Given the description of an element on the screen output the (x, y) to click on. 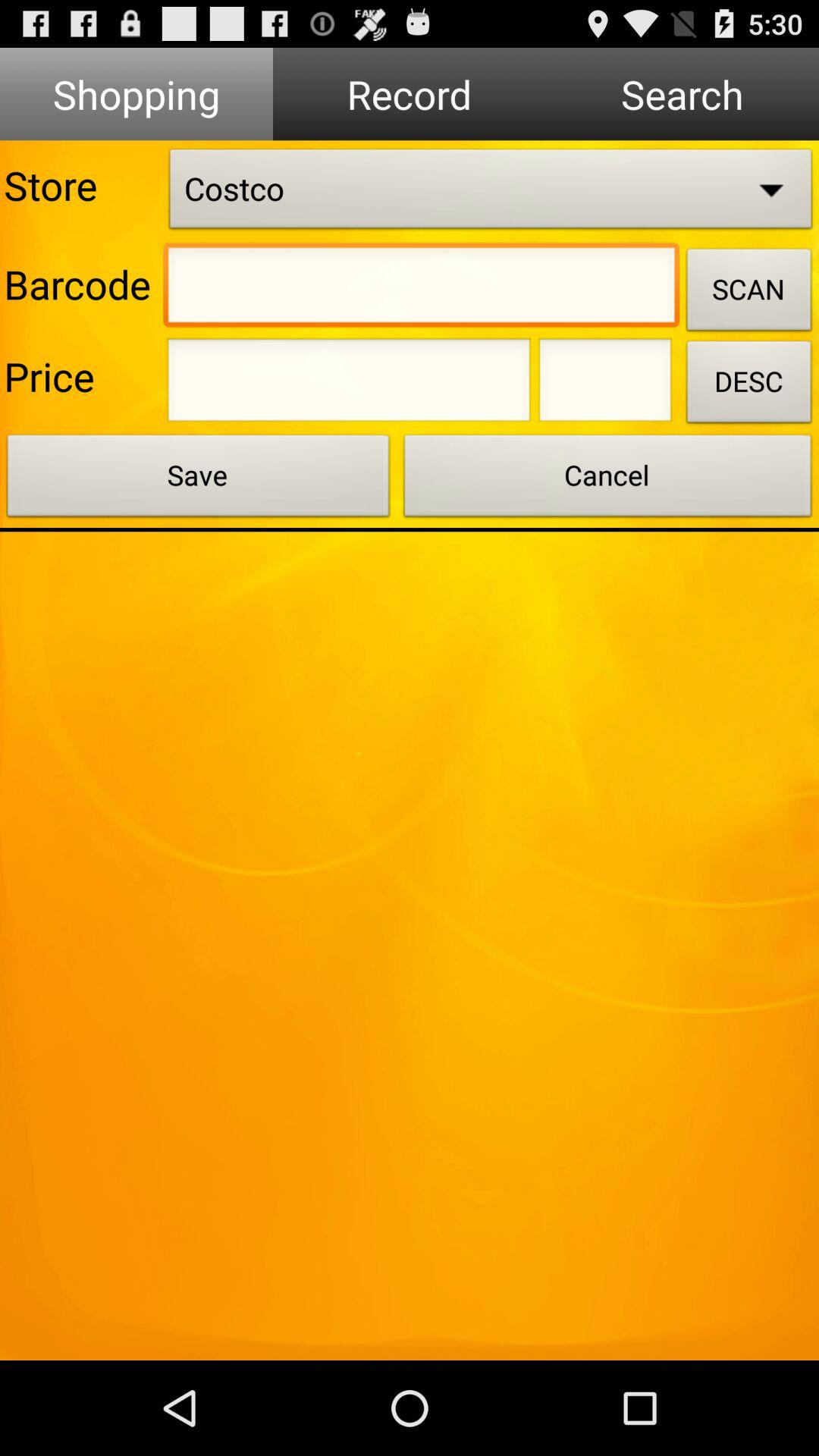
to enter text belongs to bar code (421, 288)
